Given the description of an element on the screen output the (x, y) to click on. 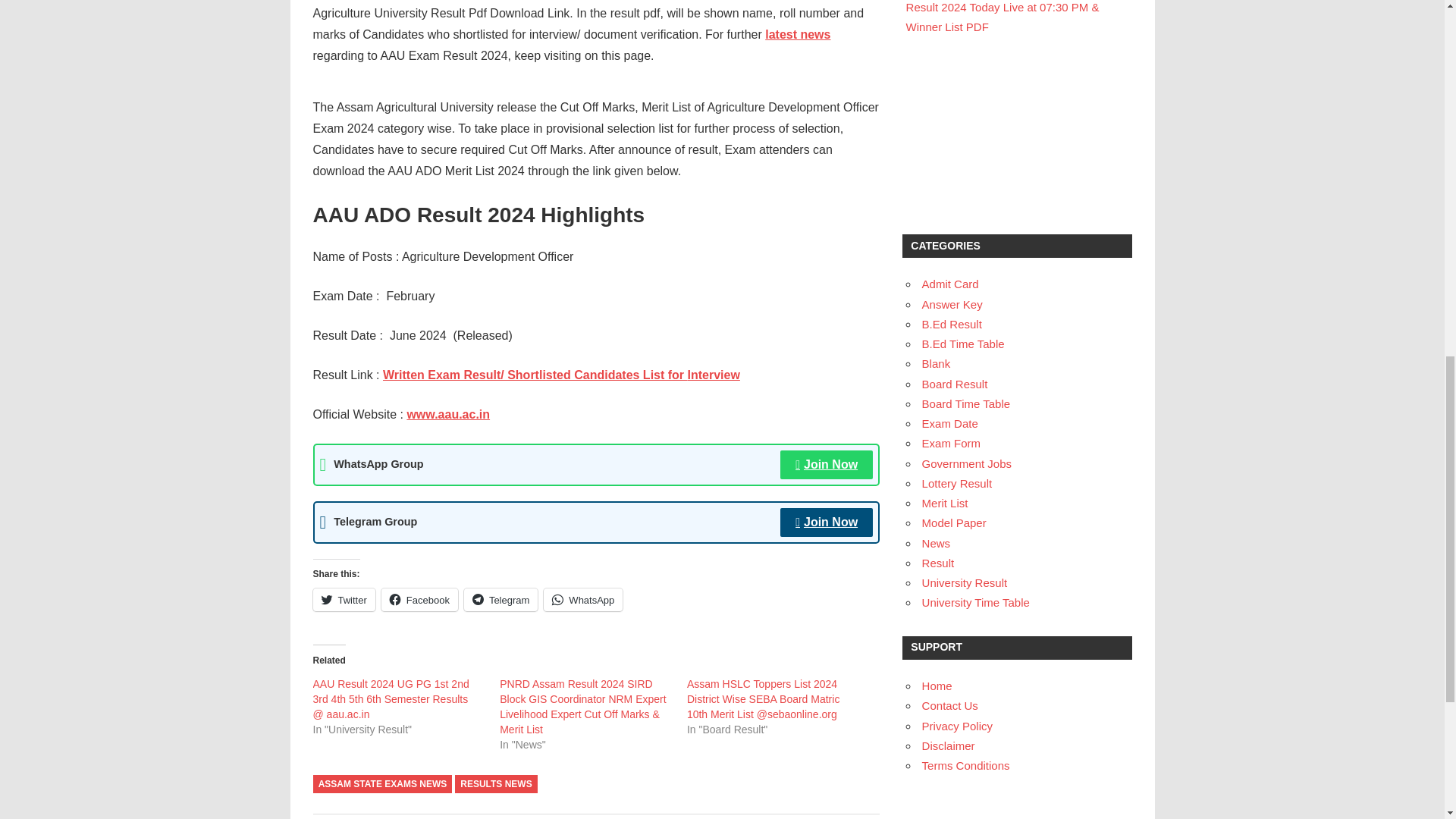
Facebook (419, 599)
Click to share on Telegram (500, 599)
Click to share on Facebook (419, 599)
ASSAM STATE EXAMS NEWS (382, 783)
WhatsApp (583, 599)
Click to share on WhatsApp (583, 599)
Click to share on Twitter (343, 599)
latest news (797, 33)
Join Now (826, 522)
Join Now (826, 464)
www.aau.ac.in (447, 413)
Advertisement (1016, 135)
Twitter (343, 599)
Telegram (500, 599)
RESULTS NEWS (495, 783)
